Given the description of an element on the screen output the (x, y) to click on. 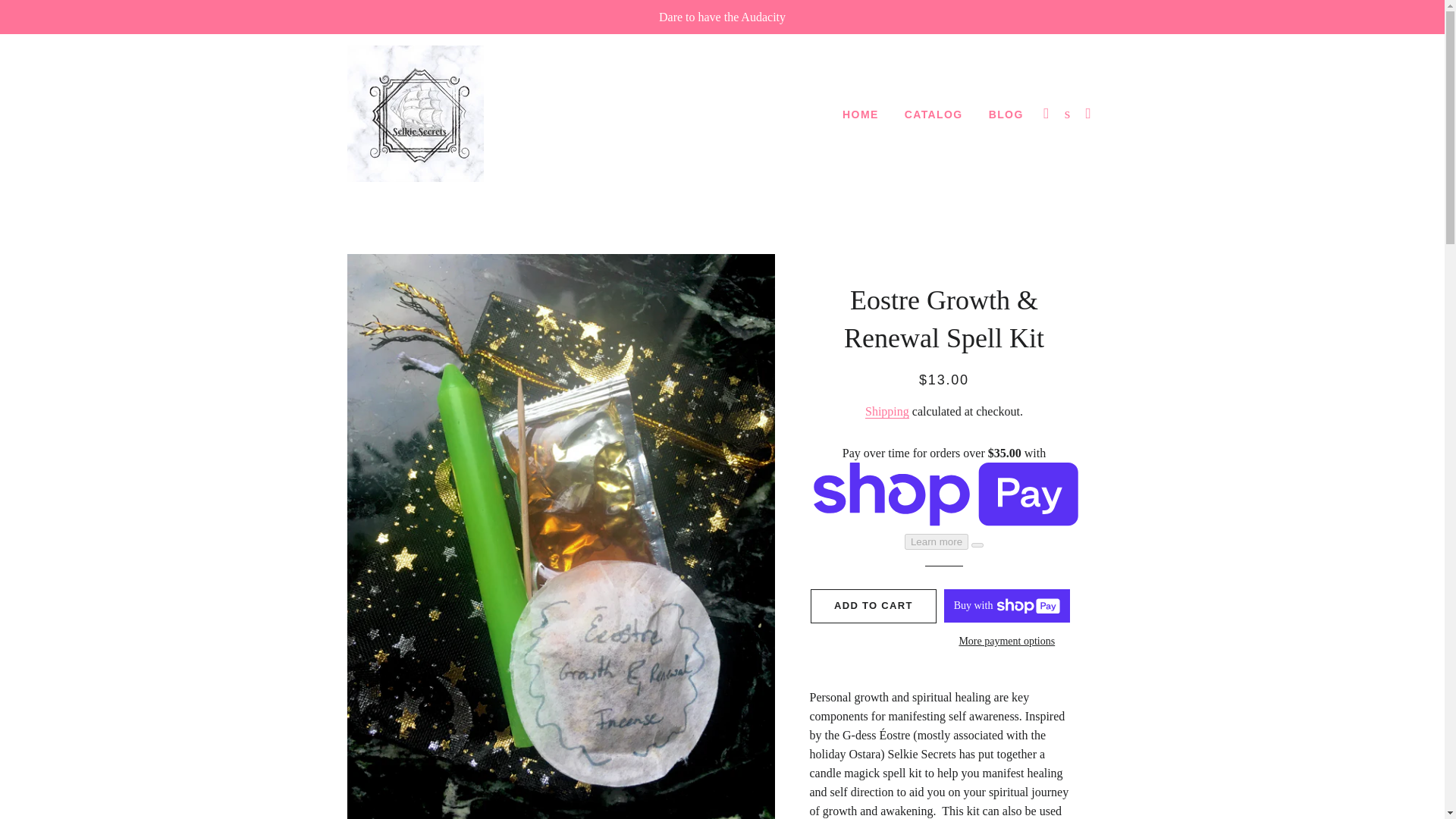
More payment options (1006, 641)
HOME (860, 115)
BLOG (1005, 115)
Shipping (886, 411)
CATALOG (933, 115)
ADD TO CART (873, 605)
